Given the description of an element on the screen output the (x, y) to click on. 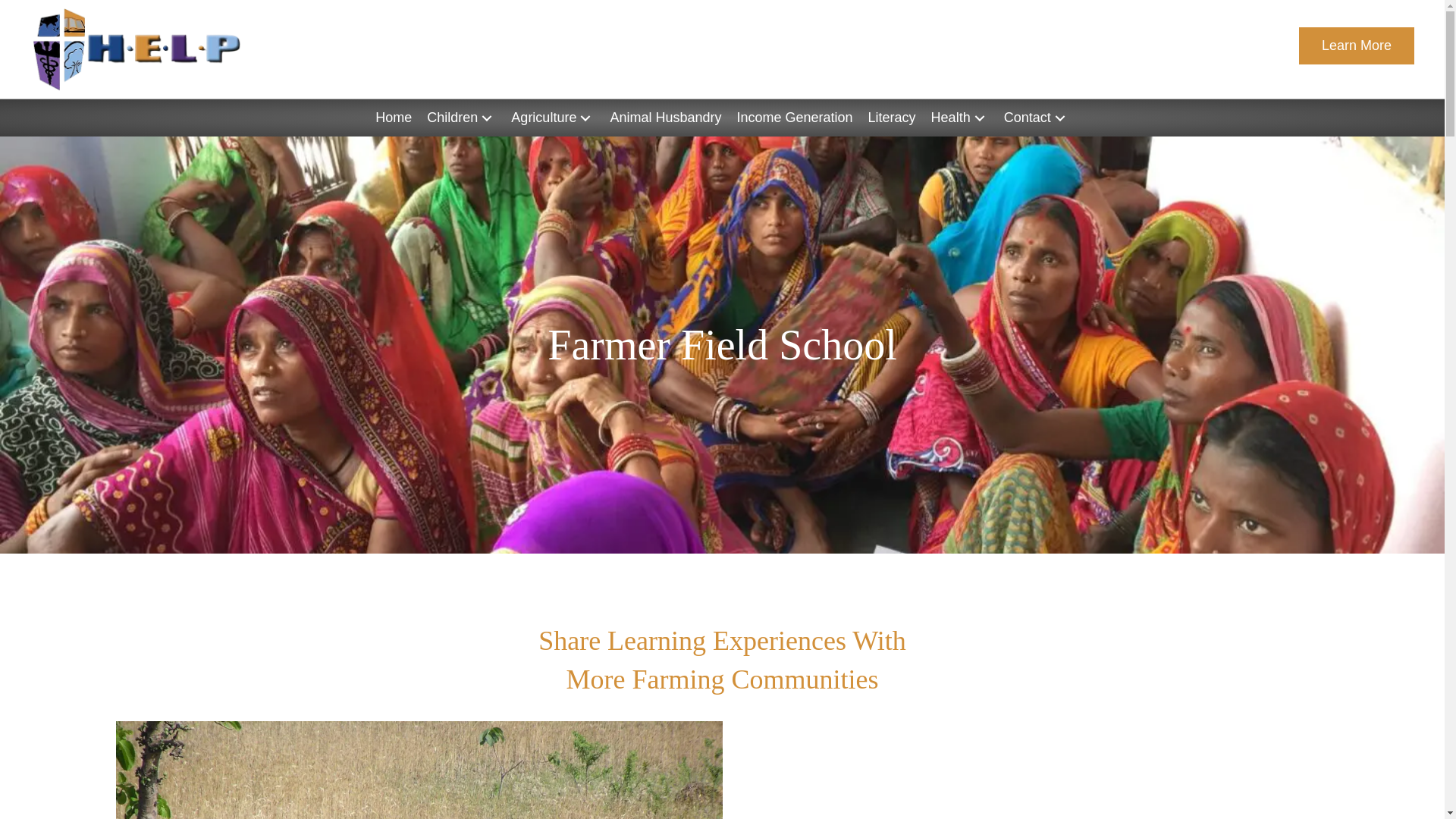
HELP (136, 48)
OLYMPUS DIGITAL CAMERA (418, 770)
